Given the description of an element on the screen output the (x, y) to click on. 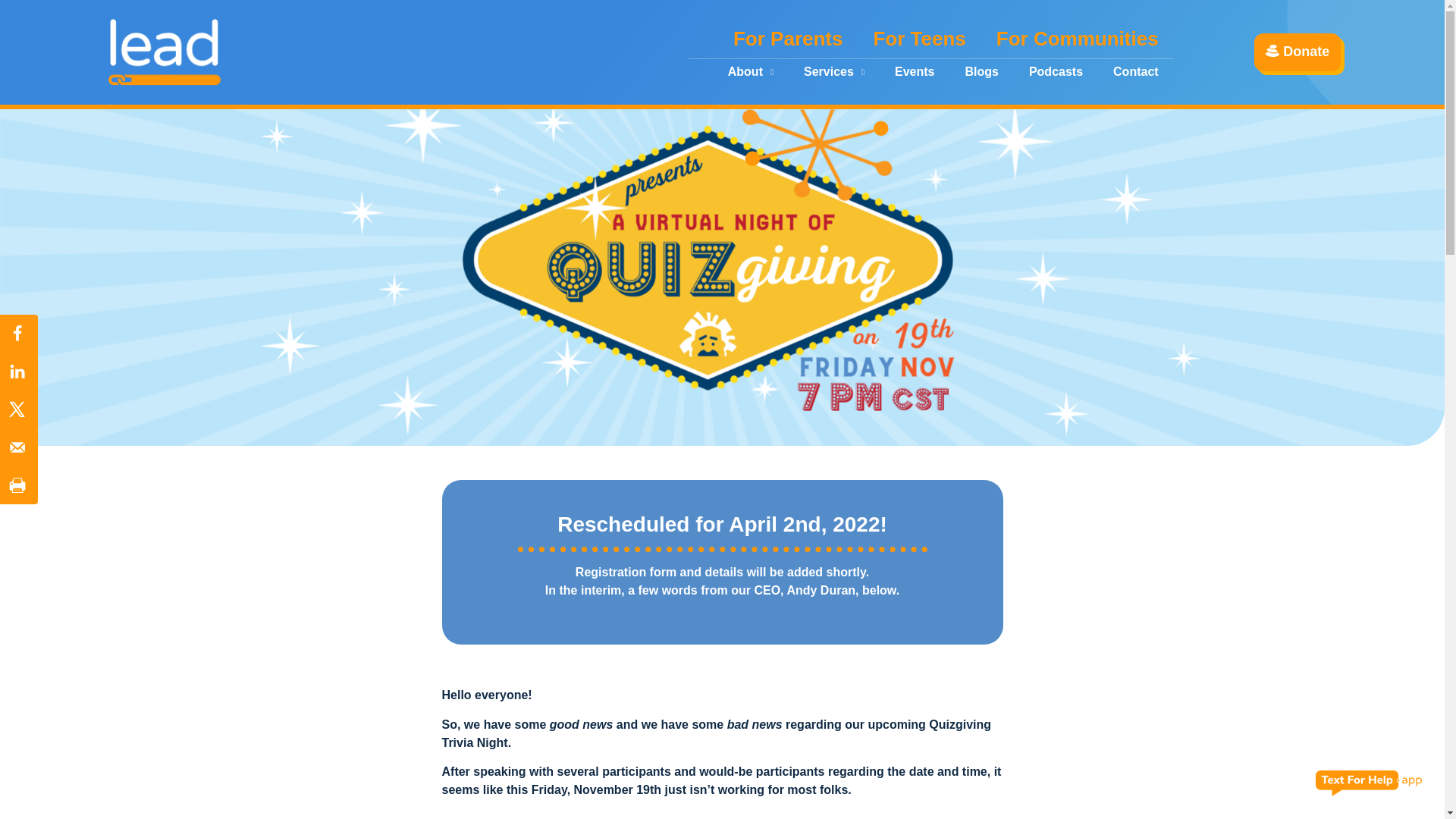
Print this webpage (18, 485)
For Parents (788, 38)
For Communities (1077, 38)
Share on Facebook (18, 333)
Services (834, 71)
Podcasts (1055, 71)
TextForHelp.app (1369, 783)
Blogs (981, 71)
Contact (1135, 71)
Share on LinkedIn (18, 371)
Events (914, 71)
For Teens (918, 38)
Share on X (18, 409)
About (751, 71)
Send over email (18, 447)
